Given the description of an element on the screen output the (x, y) to click on. 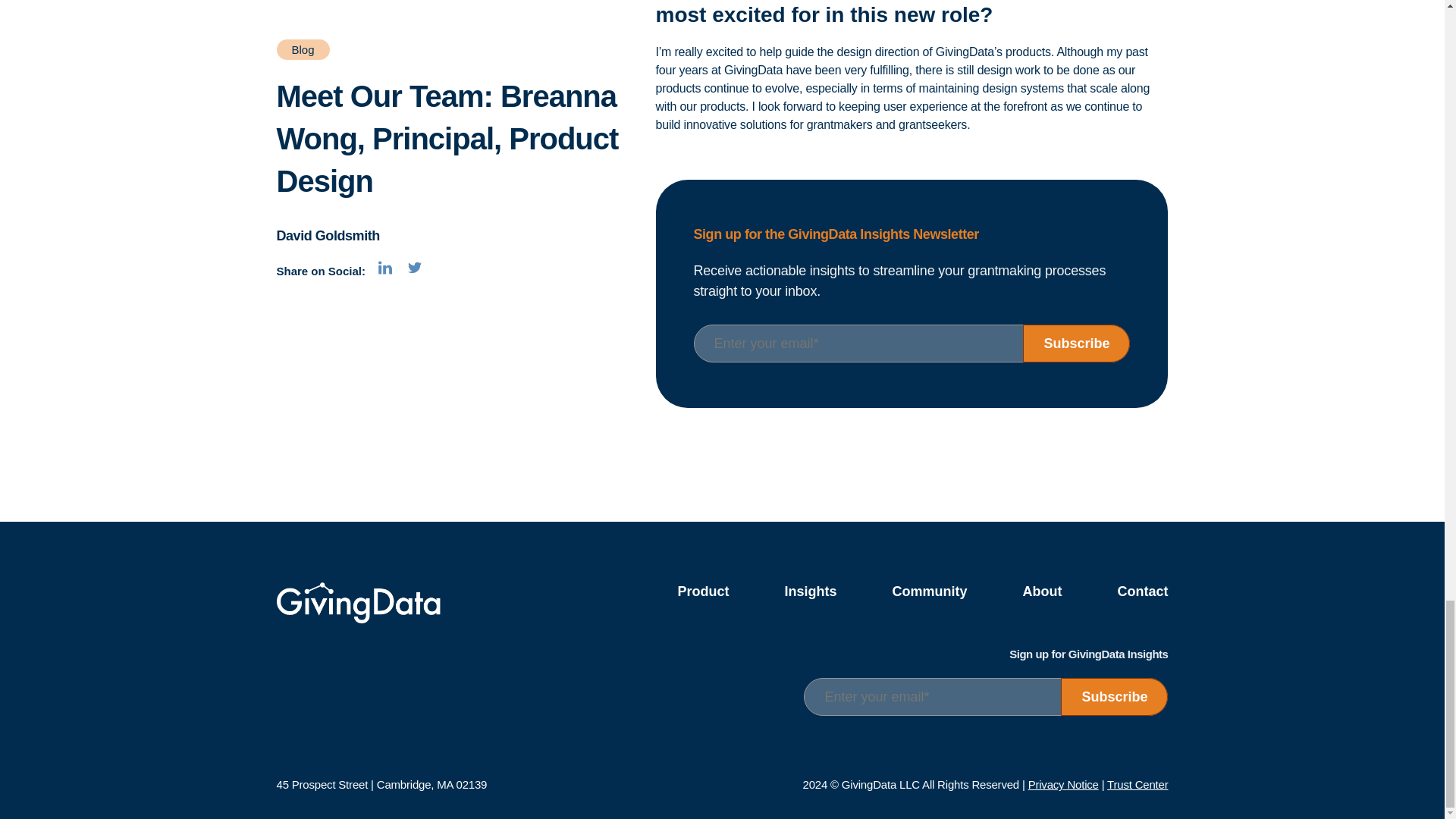
Contact (1141, 590)
Insights (809, 590)
Community (928, 590)
Subscribe (1076, 343)
Product (703, 590)
Subscribe (1076, 343)
Trust Center (1136, 784)
Privacy Notice (1063, 784)
About (1041, 590)
Subscribe (1114, 696)
Subscribe (1114, 696)
